Given the description of an element on the screen output the (x, y) to click on. 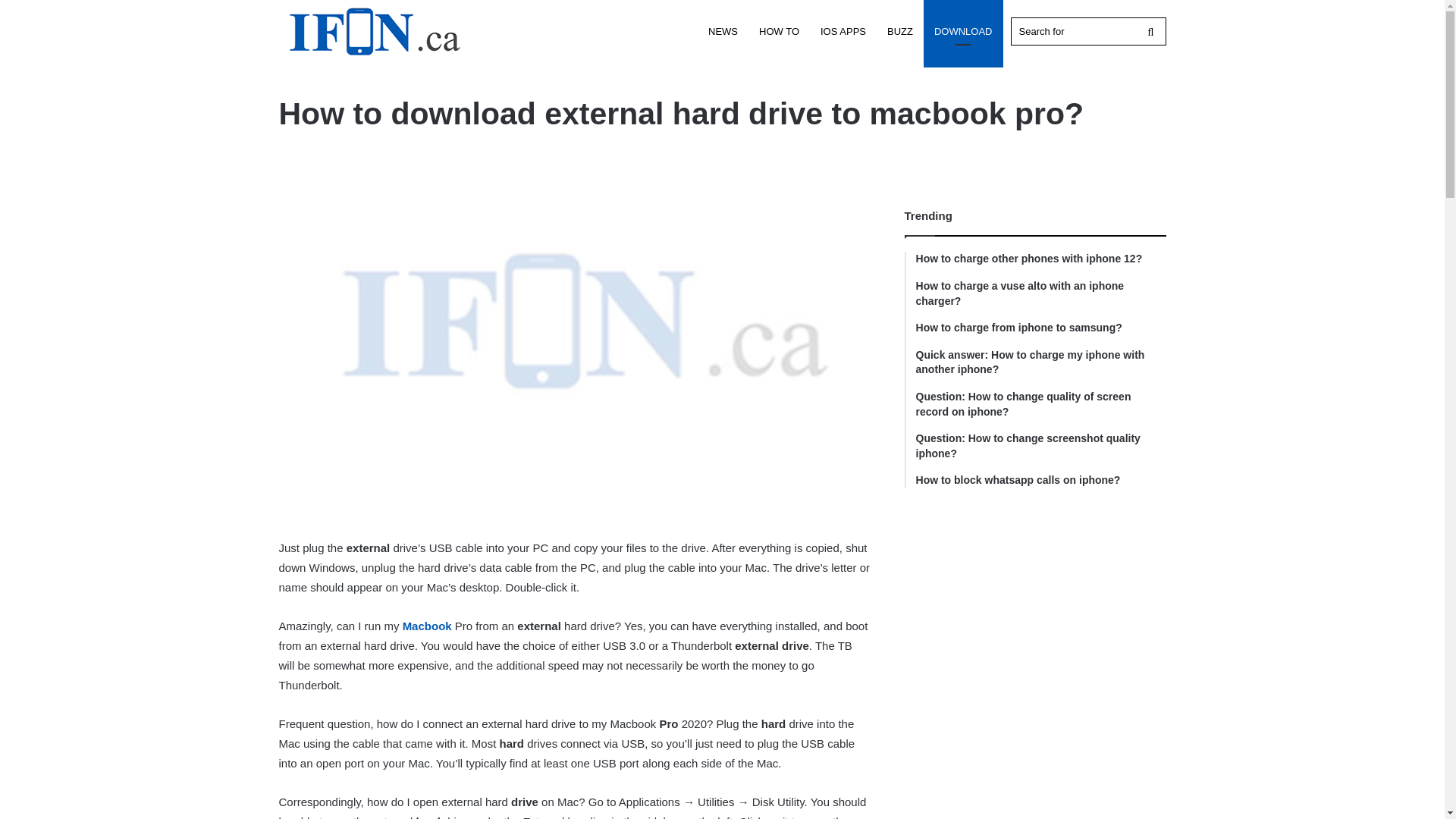
Question: How to change quality of screen record on iphone? (1040, 404)
Macbook (427, 625)
Quick answer: How to charge my iphone with another iphone? (1040, 362)
Ifon.ca (373, 31)
How to charge a vuse alto with an iphone charger? (1040, 293)
DOWNLOAD (963, 31)
Macbook (427, 625)
How to charge from iphone to samsung? (1040, 328)
HOW TO (778, 31)
How to block whatsapp calls on iphone? (1040, 480)
